Given the description of an element on the screen output the (x, y) to click on. 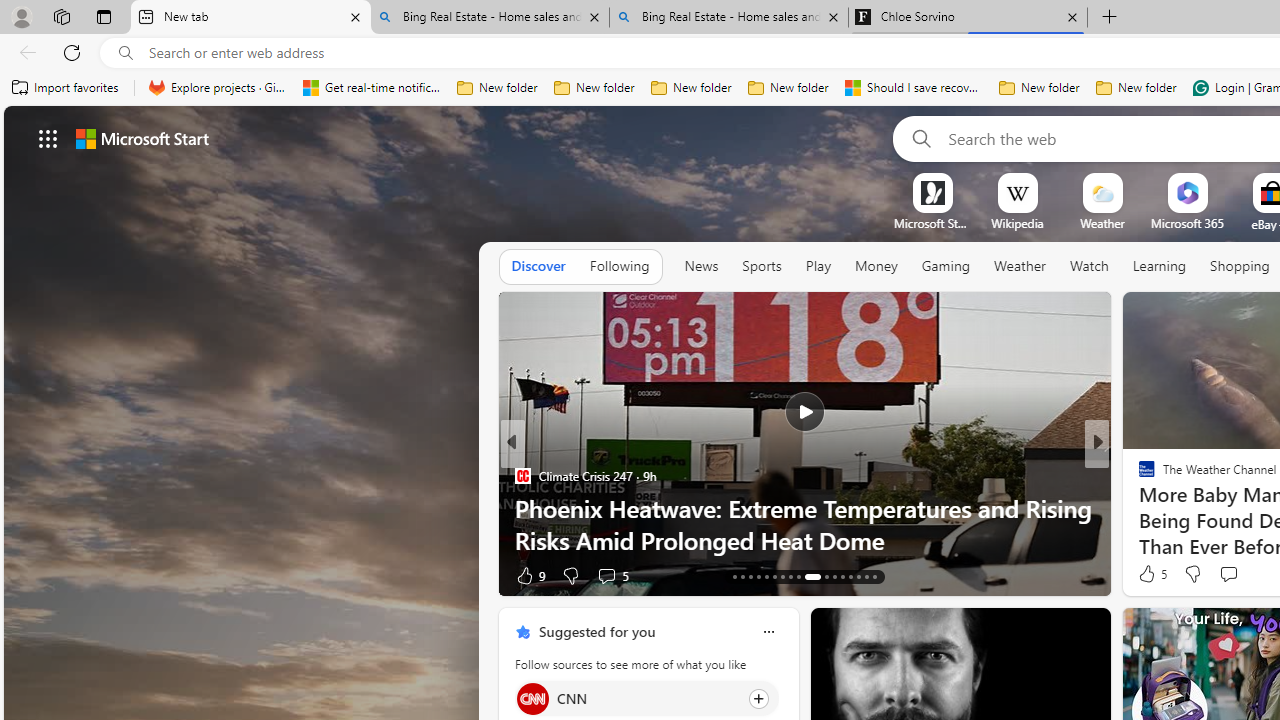
Chloe Sorvino (967, 17)
Microsoft Start Gaming (932, 223)
Search icon (125, 53)
CNN (532, 697)
146 Like (1151, 574)
151 Like (1151, 574)
Hide this story (1050, 632)
AutomationID: tab-16 (757, 576)
Nordace.com (1165, 507)
CNBC (1138, 475)
